Given the description of an element on the screen output the (x, y) to click on. 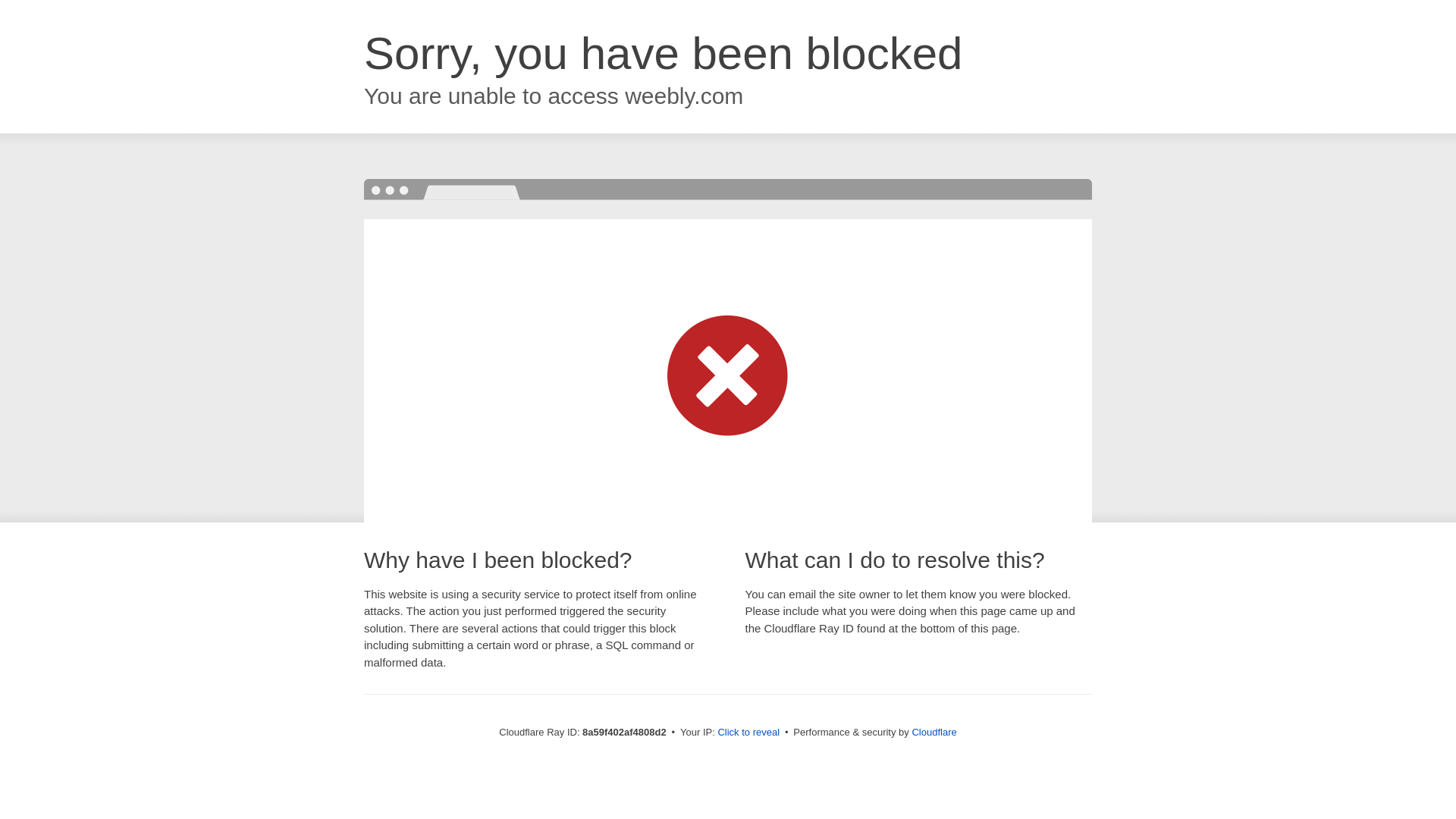
Click to reveal (747, 732)
Cloudflare (933, 731)
